Given the description of an element on the screen output the (x, y) to click on. 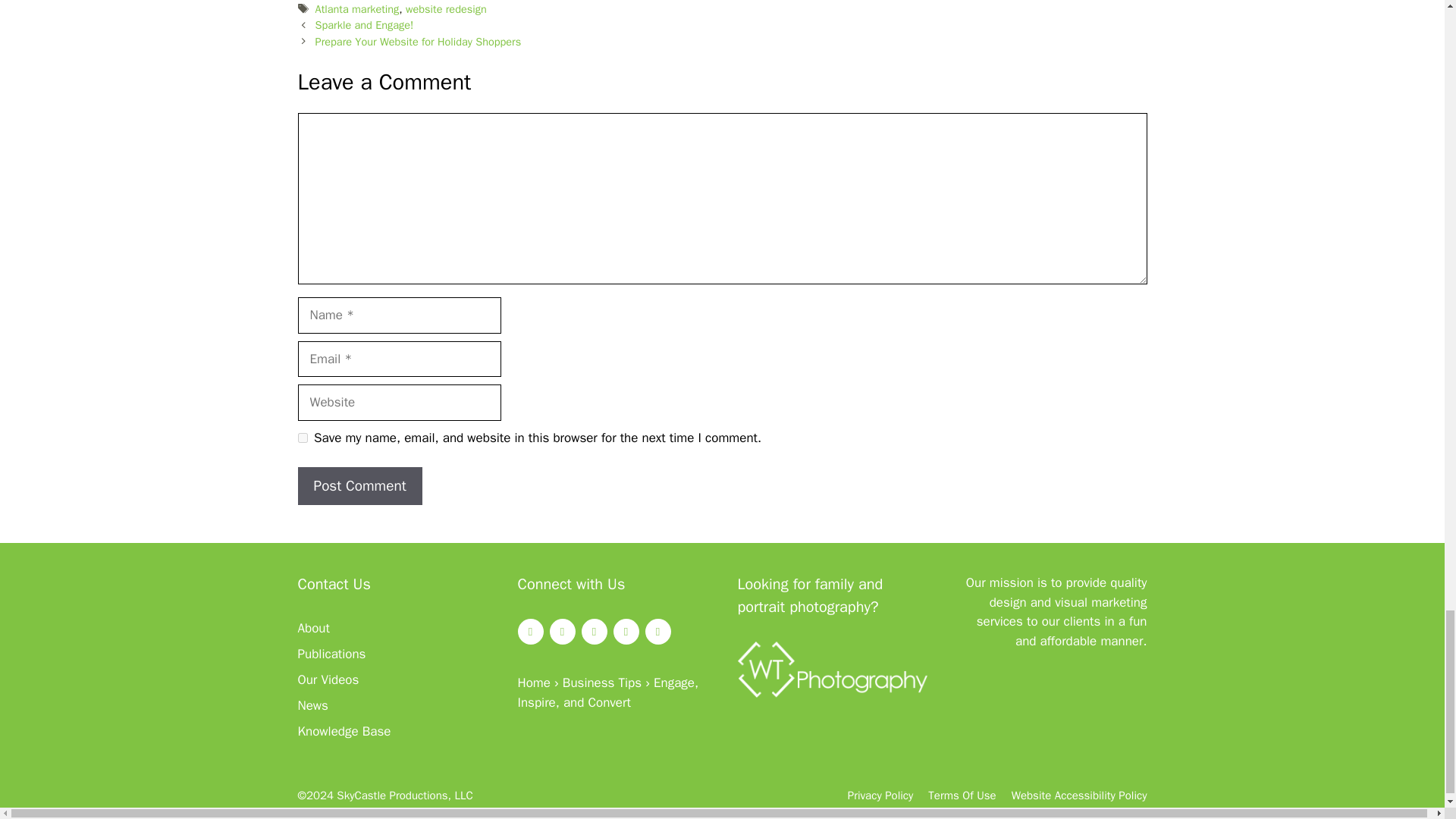
Prepare Your Website for Holiday Shoppers (418, 41)
YouTube (625, 631)
LinkedIn (593, 631)
Facebook (529, 631)
Atlanta marketing (356, 8)
Business Tips (602, 682)
Pinterest (657, 631)
yes (302, 438)
Terms Of Use (961, 795)
Home (533, 682)
